Given the description of an element on the screen output the (x, y) to click on. 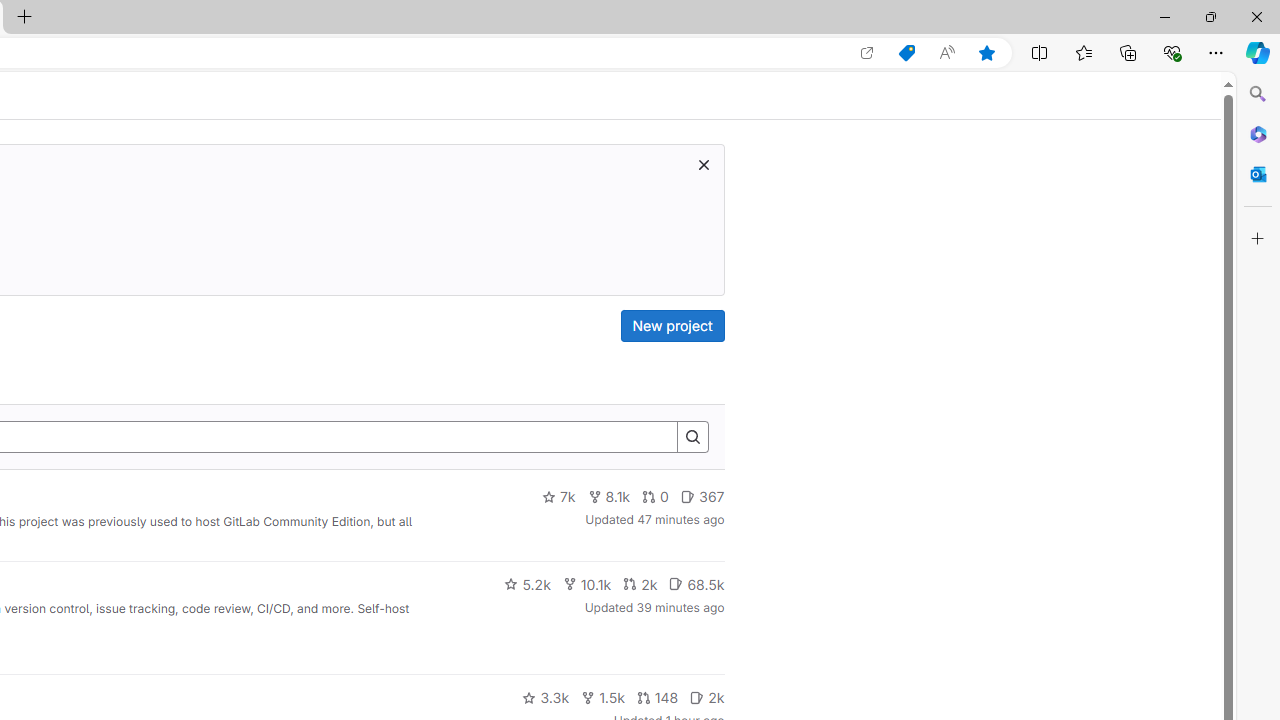
1.5k (602, 697)
10.1k (586, 583)
New project (671, 326)
367 (701, 497)
3.3k (545, 697)
0 (655, 497)
Class: s16 gl-icon gl-button-icon  (703, 164)
148 (657, 697)
7k (558, 497)
68.5k (696, 583)
